Given the description of an element on the screen output the (x, y) to click on. 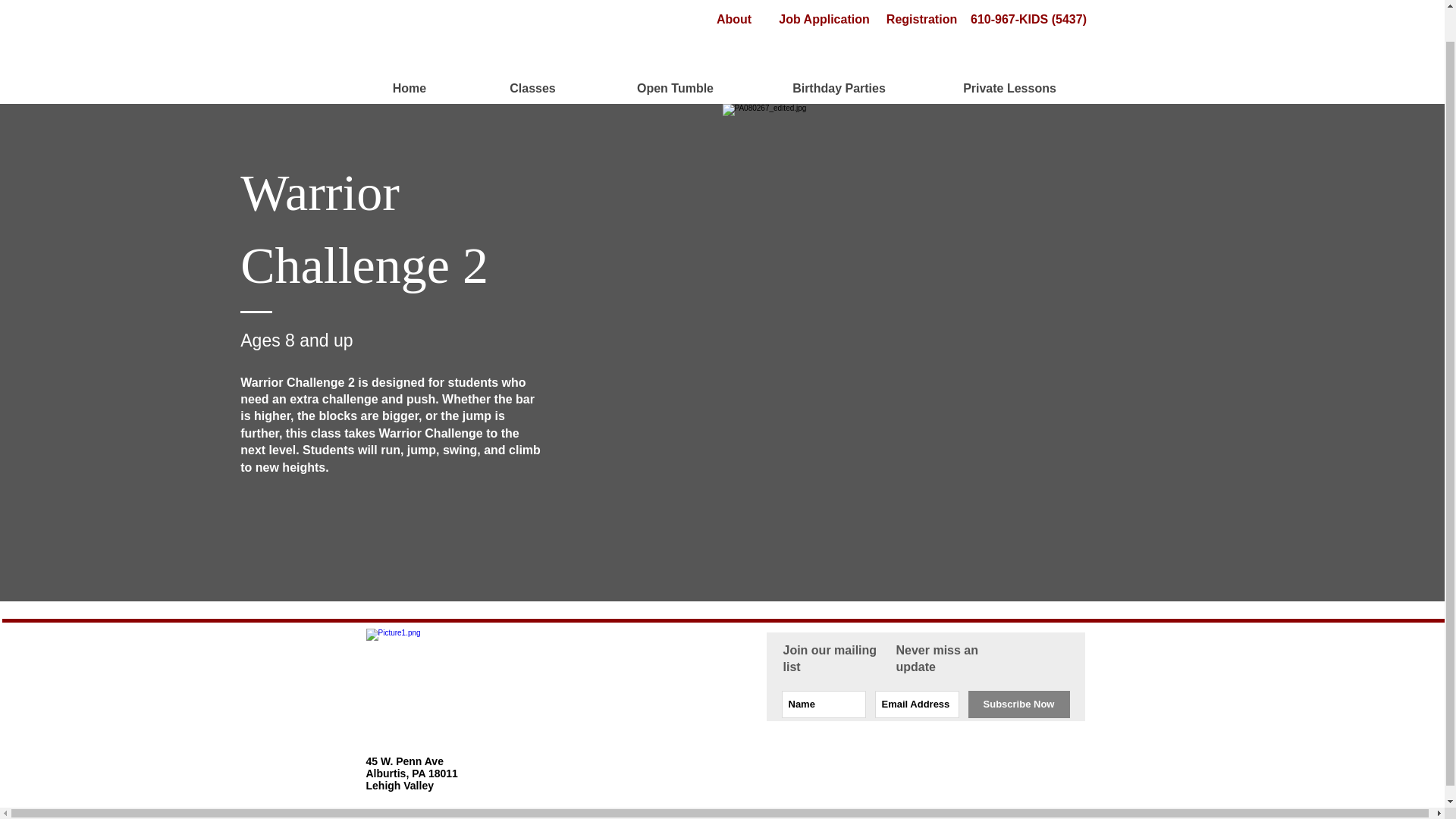
About (733, 19)
Private Lessons (1008, 88)
Alburtis, PA 18011 (411, 773)
Registration (921, 19)
Classes (532, 88)
Home (408, 88)
45 W. Penn Ave (403, 761)
Birthday Parties (839, 88)
Job Application (823, 19)
Subscribe Now (1018, 704)
